Given the description of an element on the screen output the (x, y) to click on. 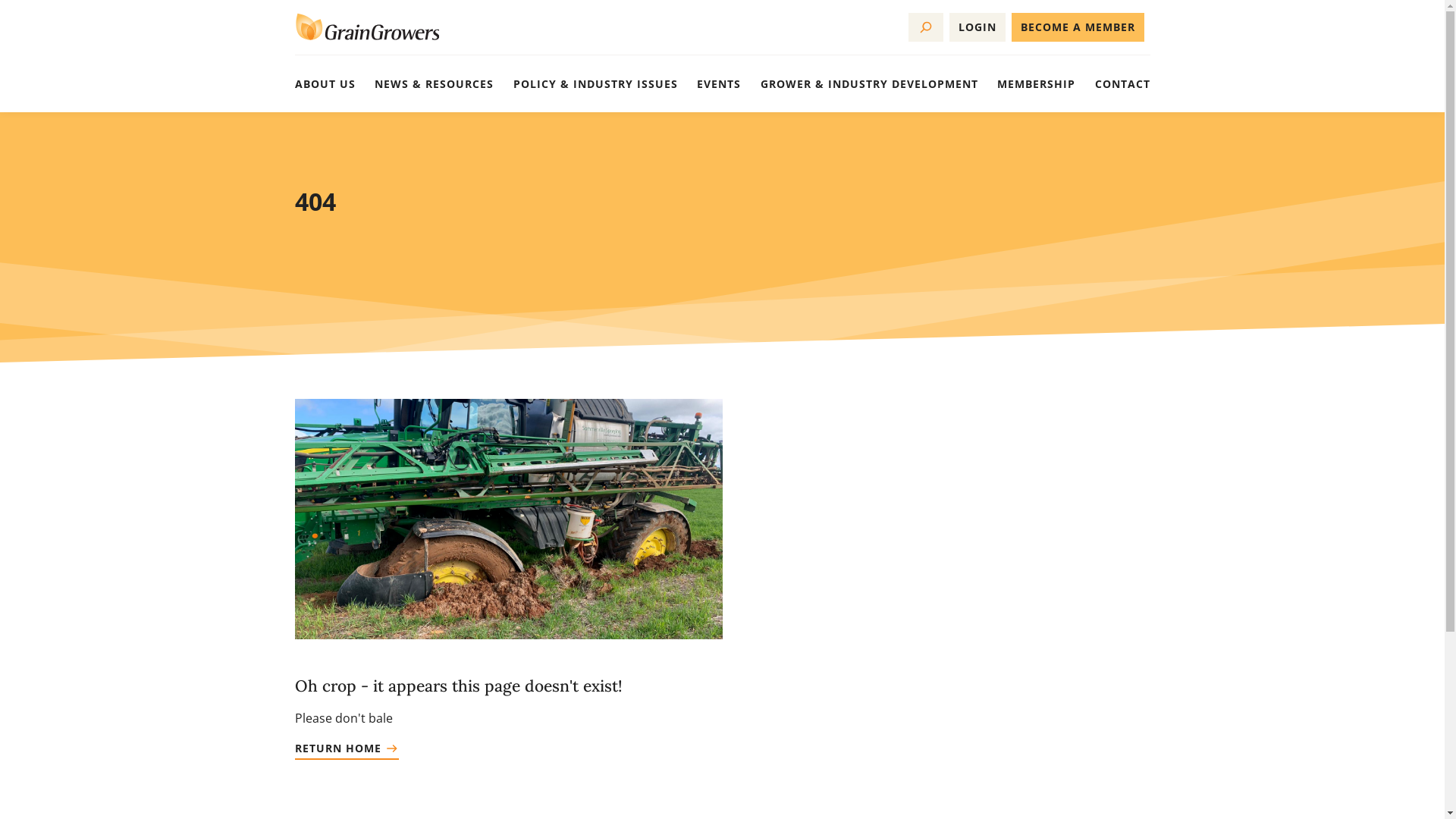
LOGIN Element type: text (977, 26)
BECOME A MEMBER Element type: text (1077, 26)
RETURN HOME Element type: text (346, 751)
